Given the description of an element on the screen output the (x, y) to click on. 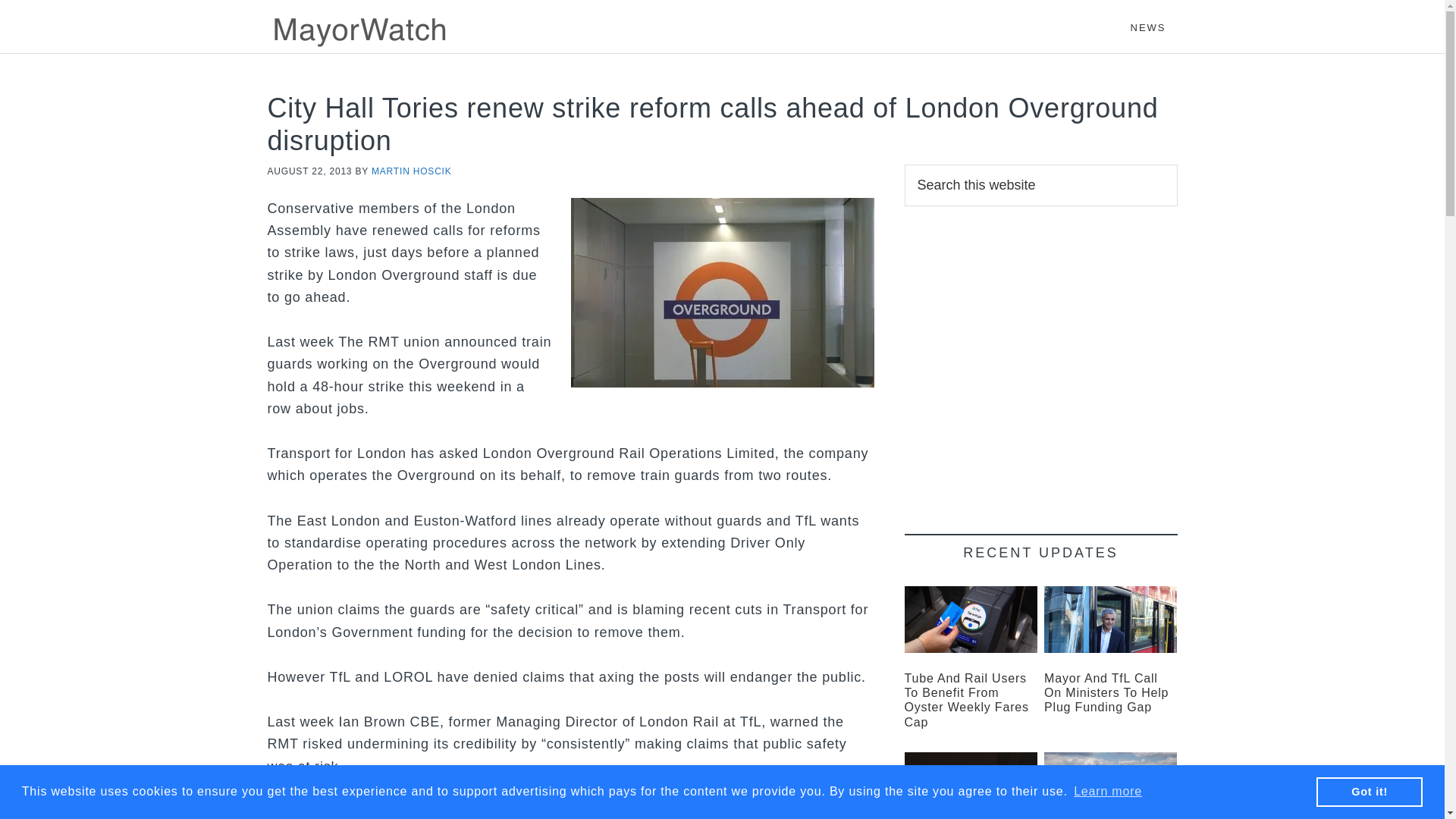
Got it! (1369, 791)
NEWS (1148, 20)
MARTIN HOSCIK (411, 171)
Advertisement (1039, 357)
Learn more (1107, 791)
Tube and rail users to benefit from Oyster weekly fares cap (965, 699)
Tube and rail users to benefit from Oyster weekly fares cap (970, 619)
Mayor and TfL call on ministers to help plug funding gap (1109, 619)
Mayor And TfL Call On Ministers To Help Plug Funding Gap (1106, 692)
MayorWatch (403, 30)
Tube And Rail Users To Benefit From Oyster Weekly Fares Cap (965, 699)
